Given the description of an element on the screen output the (x, y) to click on. 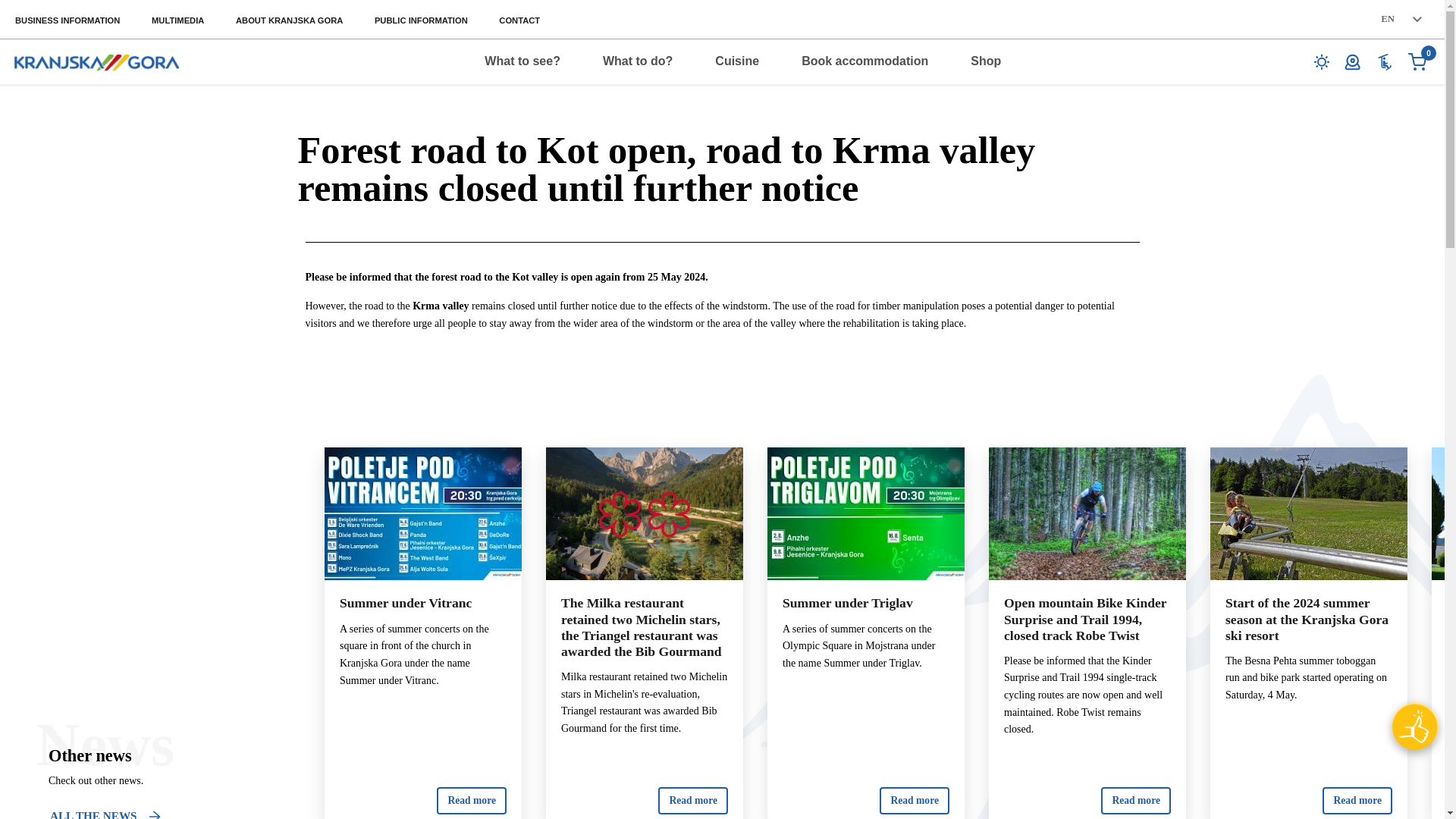
0 (1417, 60)
ABOUT KRANJSKA GORA (289, 20)
BUSINESS INFORMATION (68, 20)
MULTIMEDIA (177, 20)
What to do? (637, 60)
EN (1401, 18)
Shop (985, 60)
What to see? (522, 60)
PUBLIC INFORMATION (420, 20)
CONTACT (519, 20)
